Given the description of an element on the screen output the (x, y) to click on. 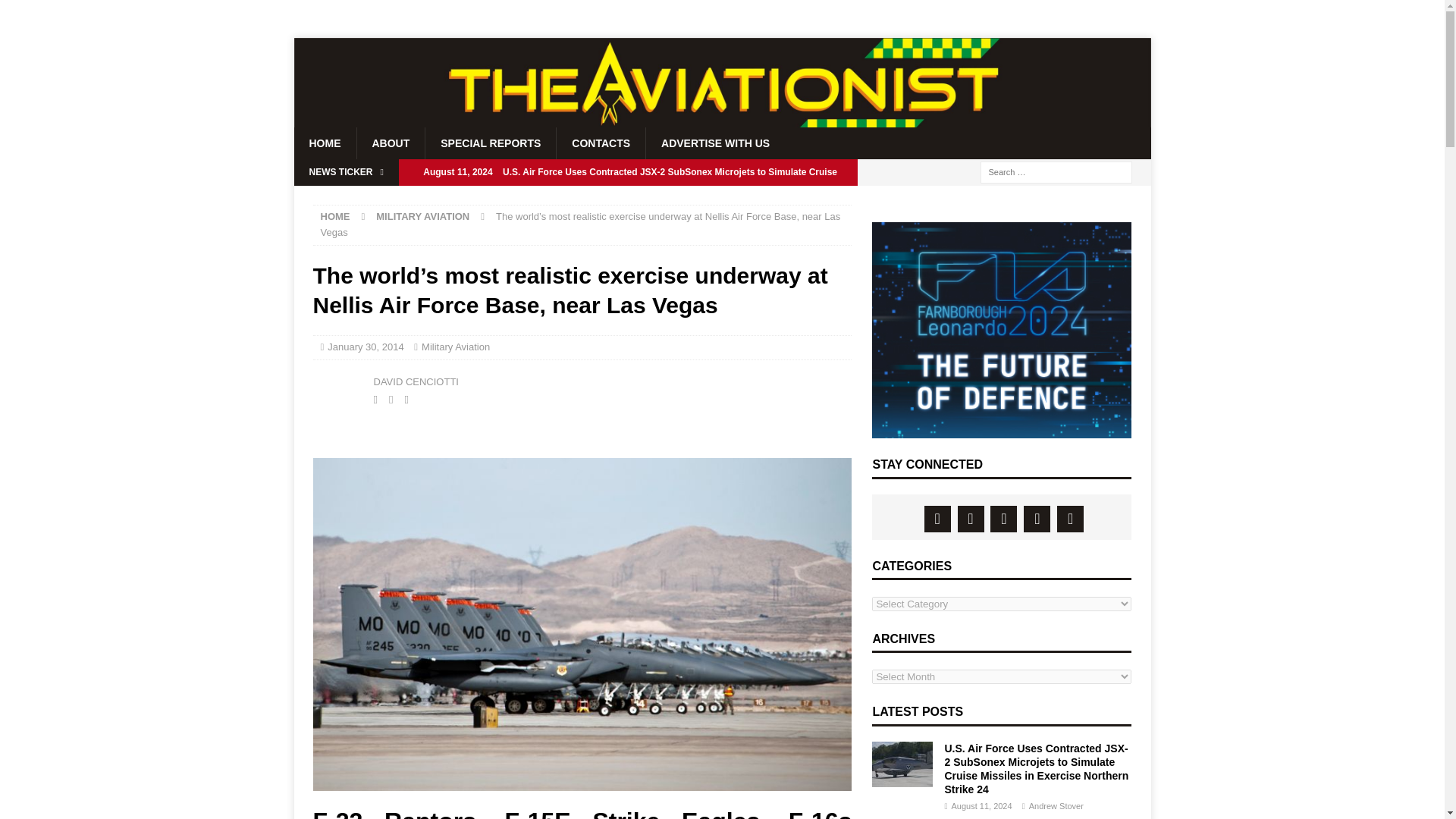
ADVERTISE WITH US (714, 142)
David Cenciotti (339, 389)
SPECIAL REPORTS (490, 142)
January 30, 2014 (365, 346)
Search (56, 11)
DAVID CENCIOTTI (415, 381)
The Aviationist (722, 121)
Military Aviation (455, 346)
CONTACTS (600, 142)
